Given the description of an element on the screen output the (x, y) to click on. 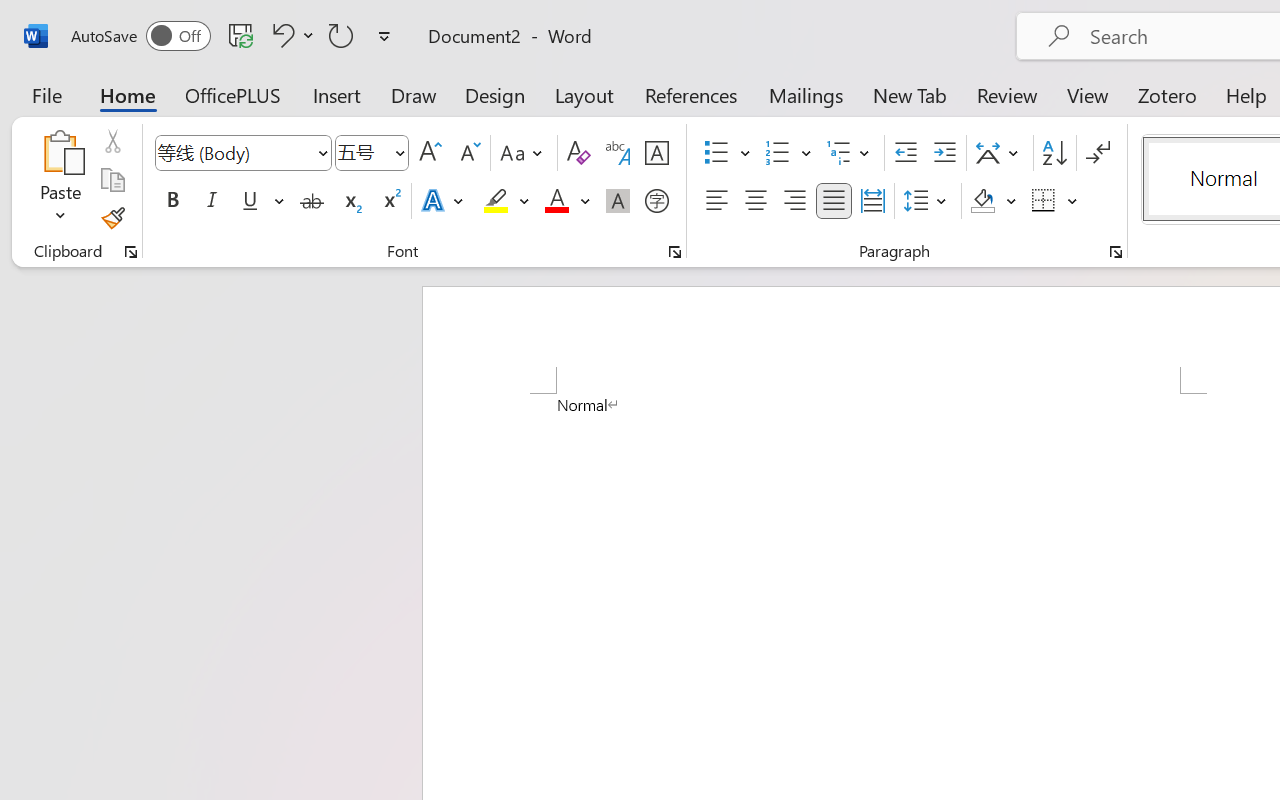
Open (399, 152)
Font Color Red (556, 201)
Cut (112, 141)
Borders (1055, 201)
References (690, 94)
Align Left (716, 201)
Change Case (524, 153)
Insert (337, 94)
Decrease Indent (906, 153)
Undo Apply Quick Style (280, 35)
Customize Quick Access Toolbar (384, 35)
Distributed (872, 201)
Italic (212, 201)
Paste (60, 151)
